Given the description of an element on the screen output the (x, y) to click on. 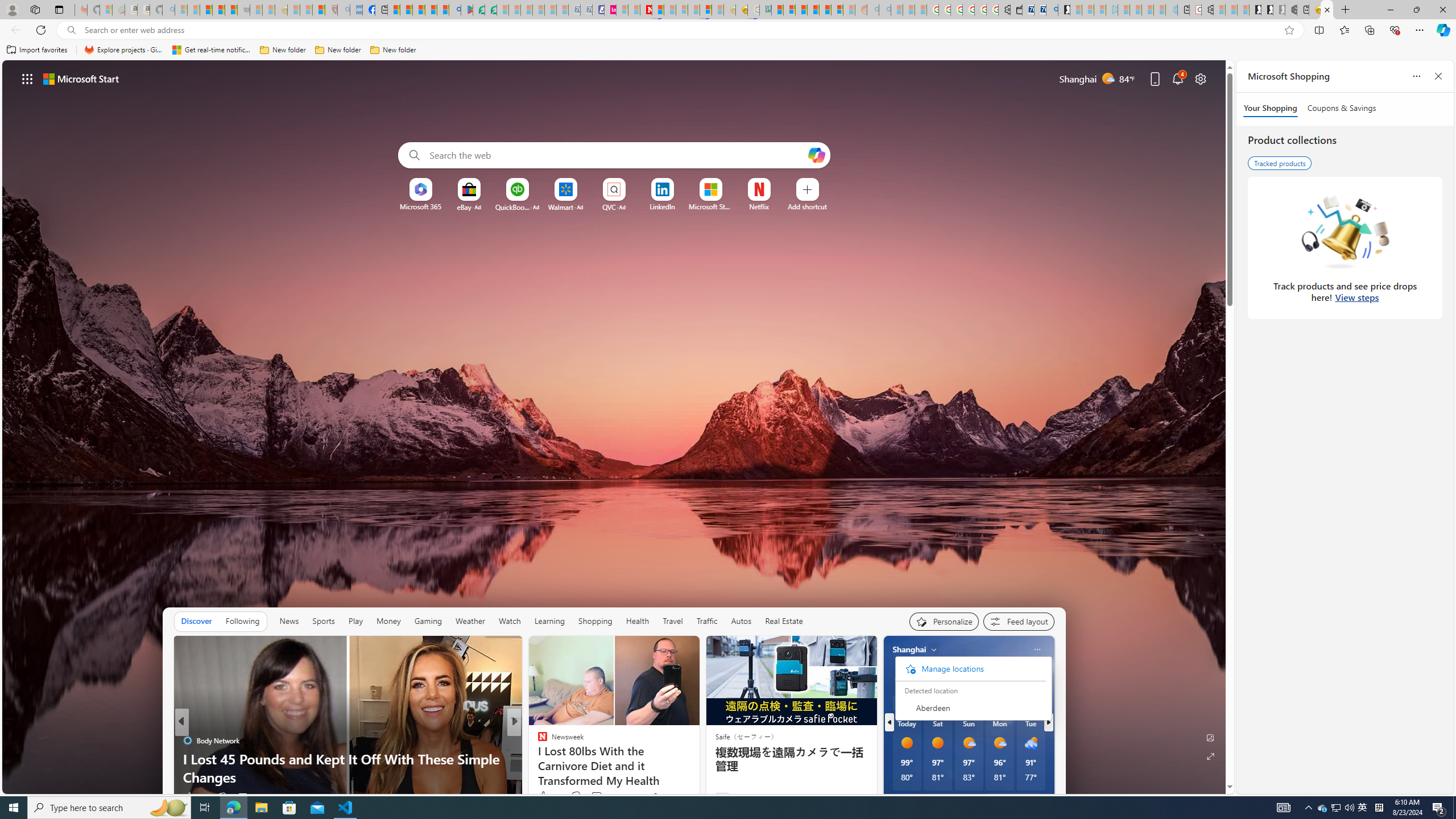
Cheap Car Rentals - Save70.com (1040, 9)
Class: interest-menu (970, 707)
Sunny (937, 742)
Recipes - MSN - Sleeping (293, 9)
Class: weather-arrow-glyph (1043, 678)
Shanghai (909, 649)
